Given the description of an element on the screen output the (x, y) to click on. 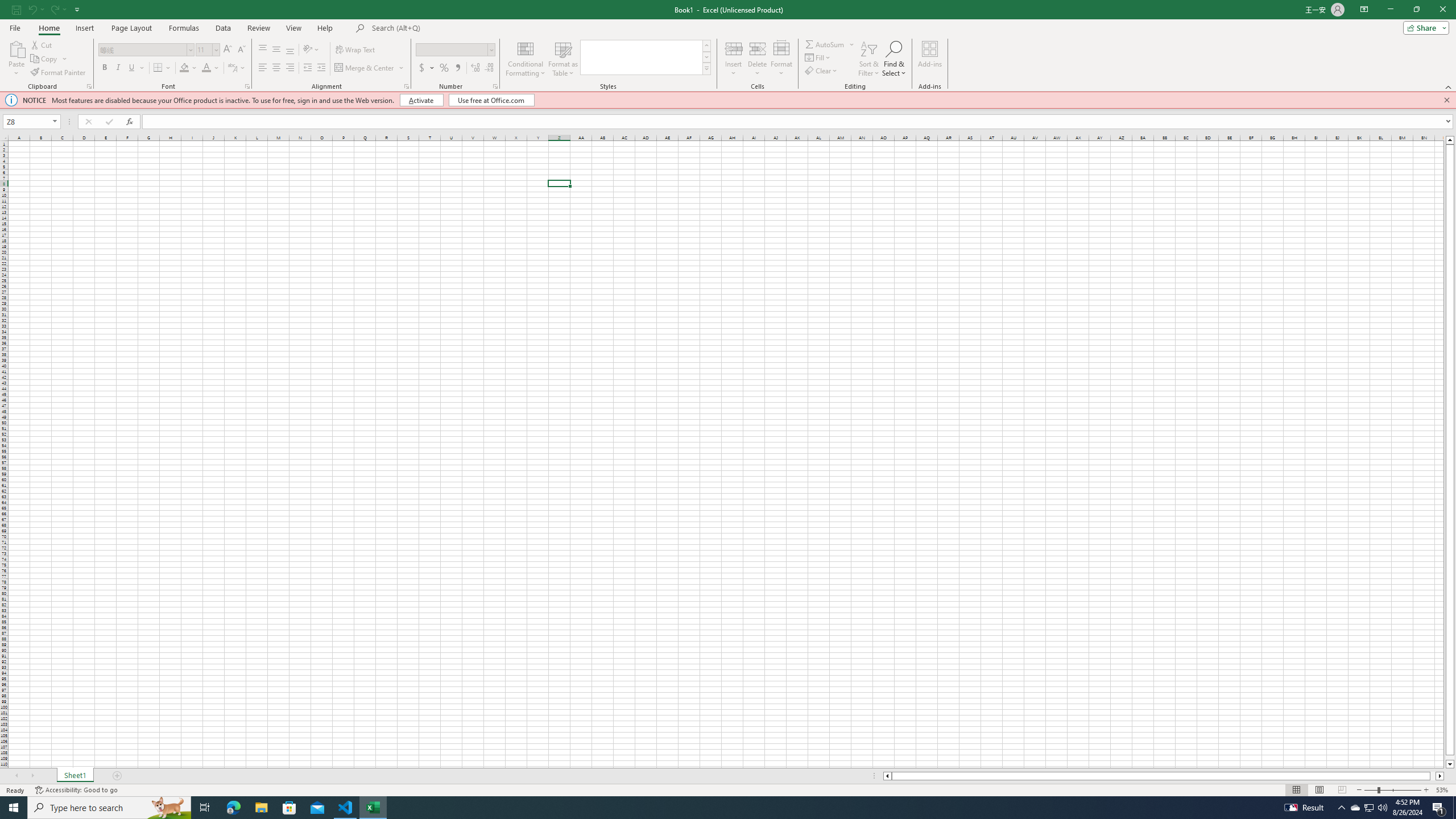
Cell Styles (705, 68)
Find & Select (893, 58)
Underline (136, 67)
Align Right (290, 67)
Clear (822, 69)
Microsoft search (450, 28)
Decrease Indent (307, 67)
Copy (49, 58)
